Given the description of an element on the screen output the (x, y) to click on. 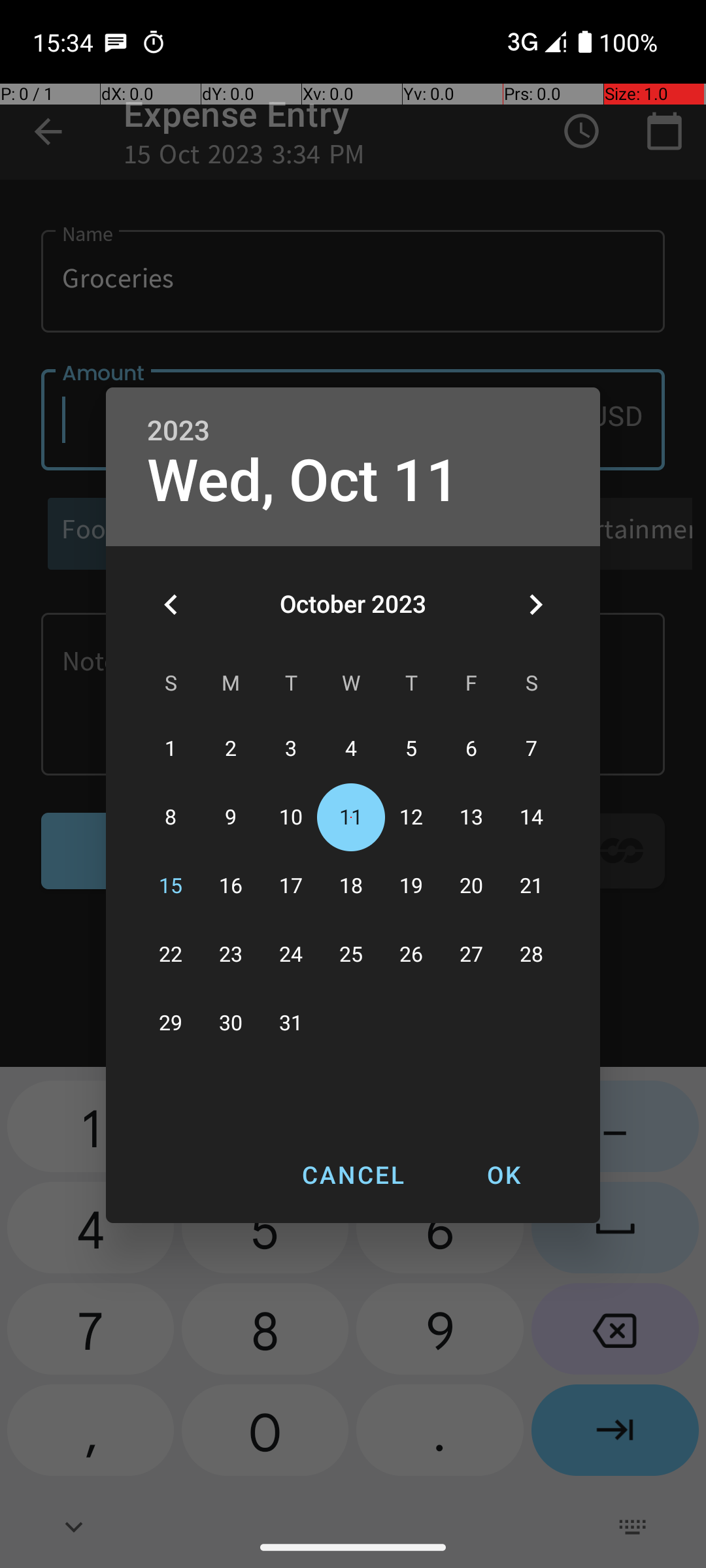
2023 Element type: android.widget.TextView (178, 430)
Wed, Oct 11 Element type: android.widget.TextView (303, 480)
Previous month Element type: android.widget.ImageButton (170, 604)
Next month Element type: android.widget.ImageButton (535, 604)
13 Element type: android.view.View (471, 817)
14 Element type: android.view.View (531, 817)
16 Element type: android.view.View (230, 885)
17 Element type: android.view.View (290, 885)
18 Element type: android.view.View (350, 885)
21 Element type: android.view.View (531, 885)
22 Element type: android.view.View (170, 954)
23 Element type: android.view.View (230, 954)
24 Element type: android.view.View (290, 954)
26 Element type: android.view.View (411, 954)
27 Element type: android.view.View (471, 954)
28 Element type: android.view.View (531, 954)
29 Element type: android.view.View (170, 1023)
31 Element type: android.view.View (290, 1023)
